Given the description of an element on the screen output the (x, y) to click on. 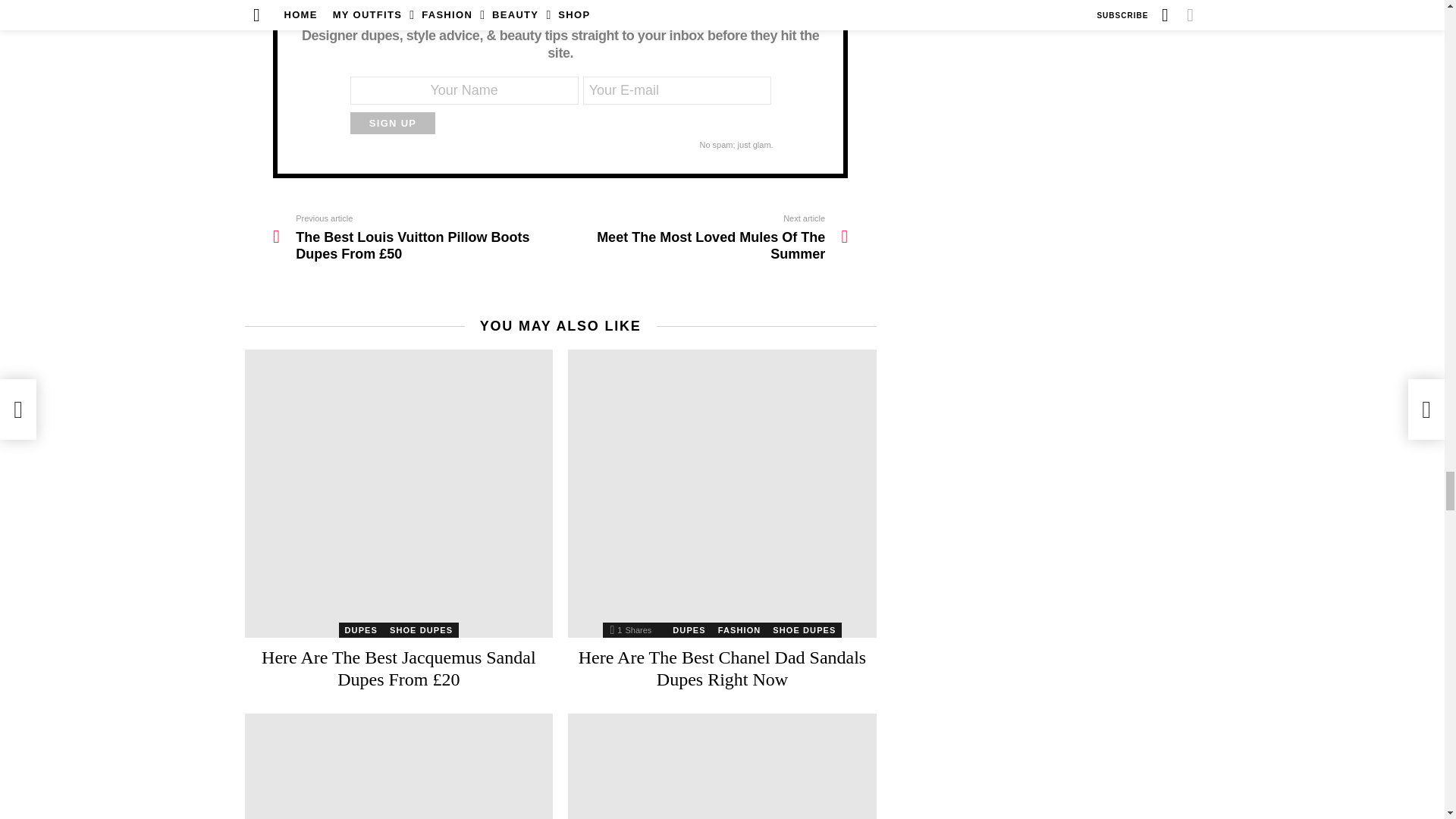
Sign Up (392, 123)
